Given the description of an element on the screen output the (x, y) to click on. 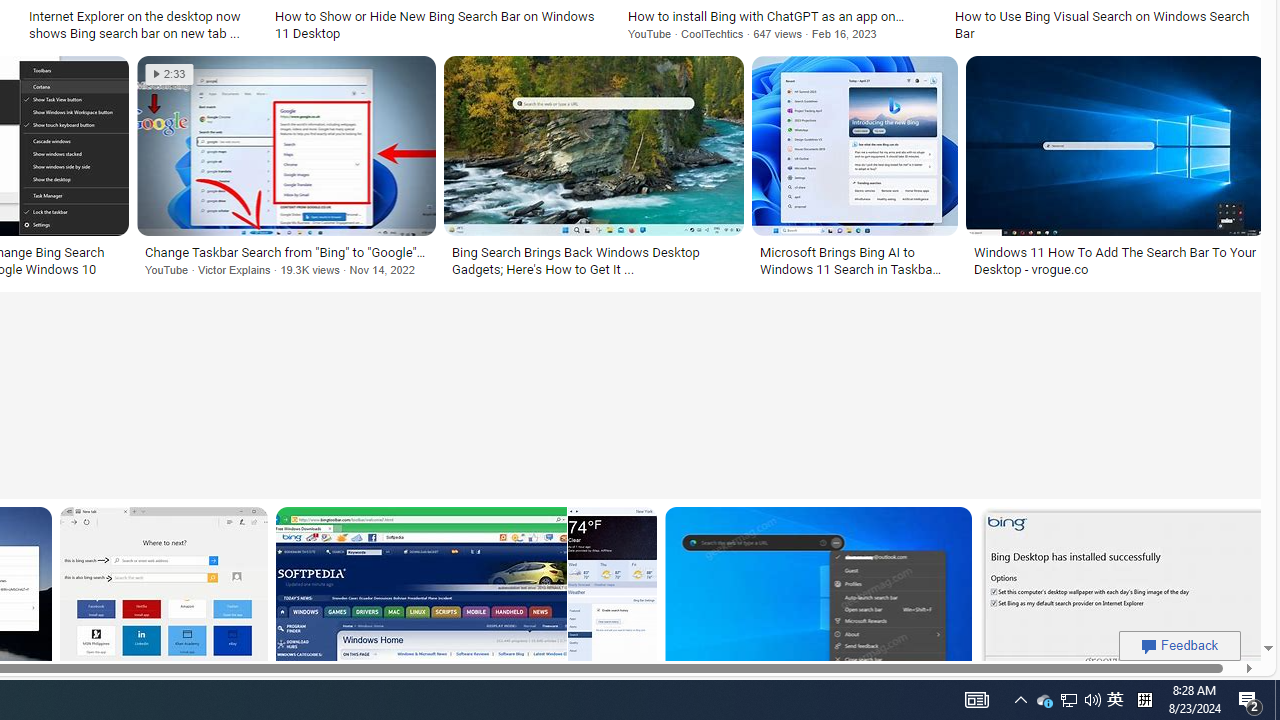
2:33 (169, 74)
How to Use Bing Visual Search on Windows Search Bar (1106, 24)
How to install Bing with ChatGPT as an app on Windows 11 (779, 16)
